Given the description of an element on the screen output the (x, y) to click on. 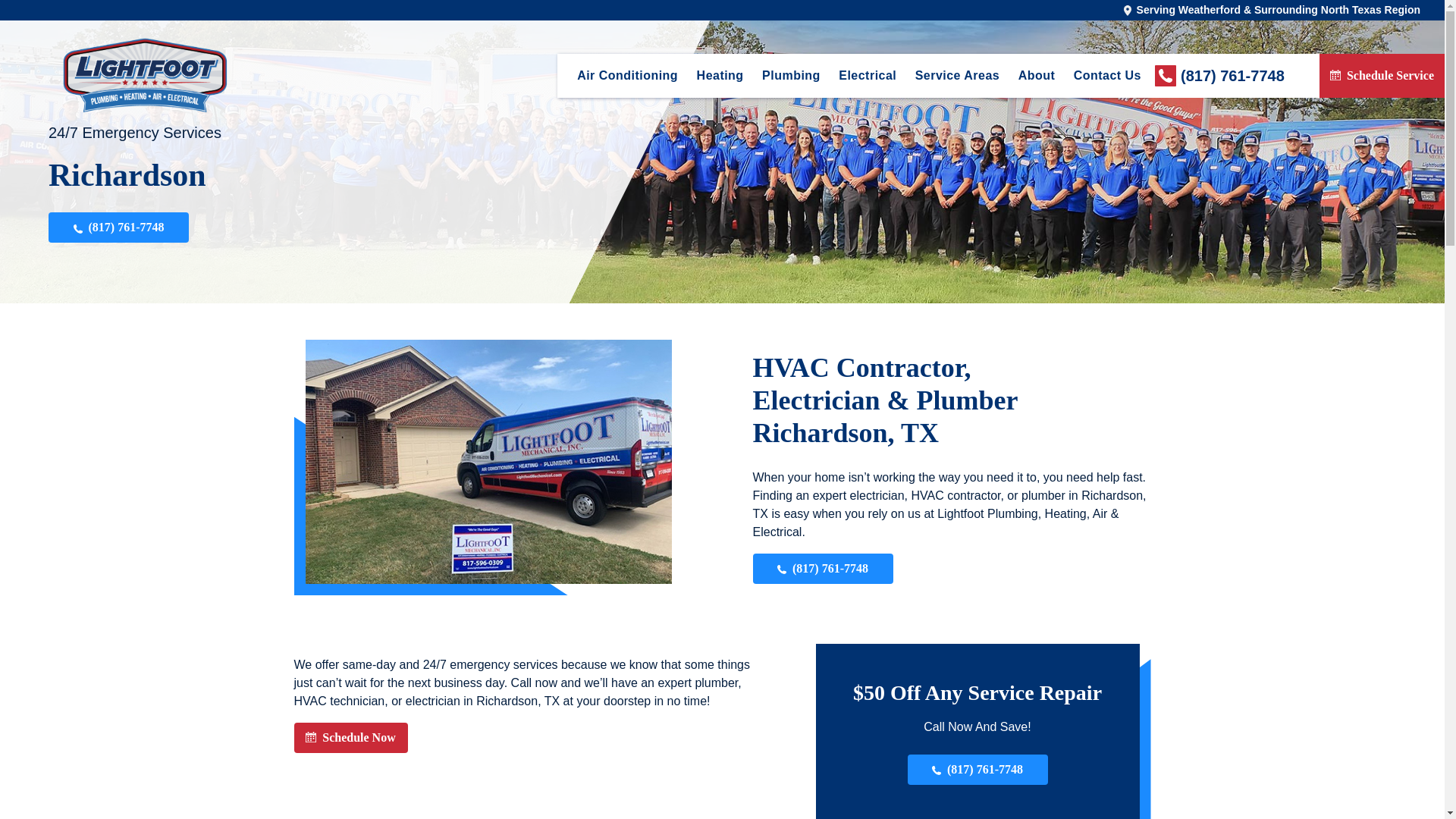
Heating (719, 75)
Plumbing (791, 75)
Air Conditioning (627, 75)
Electrical (867, 75)
